Given the description of an element on the screen output the (x, y) to click on. 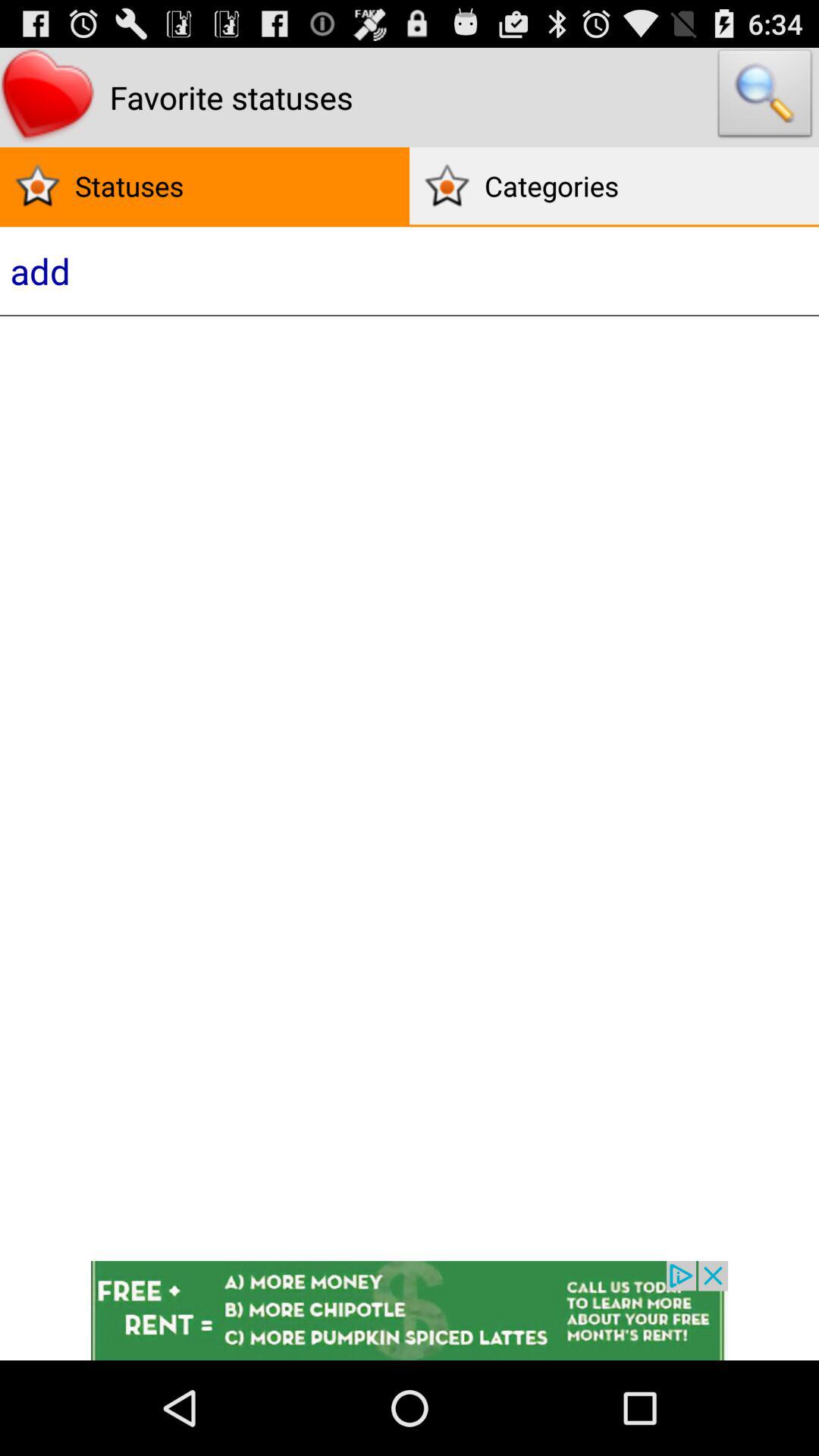
open webpage of displayed advertisement (409, 1310)
